Given the description of an element on the screen output the (x, y) to click on. 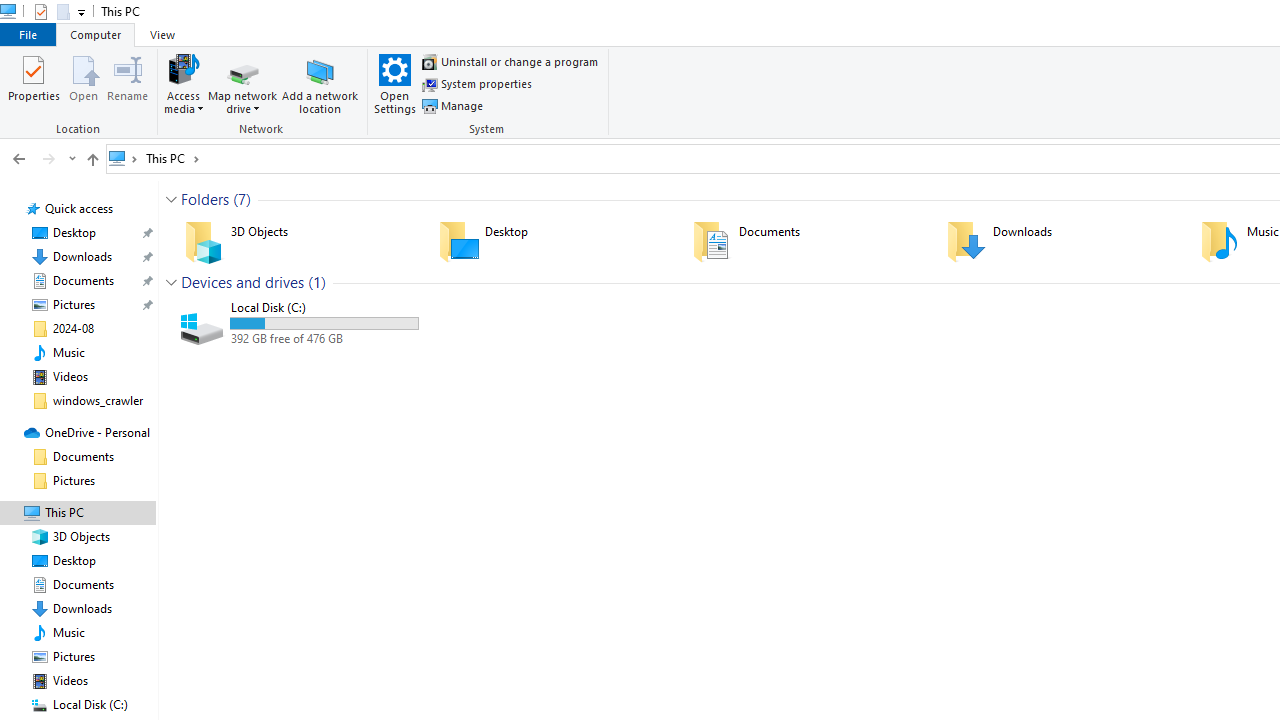
Documents (806, 241)
View (162, 34)
This PC (172, 158)
Manage (452, 105)
Open (83, 83)
System properties (477, 83)
All locations (124, 158)
Access media (184, 83)
Customize Quick Access Toolbar (81, 11)
Count (316, 282)
Local Disk (C:) (298, 323)
Properties (34, 83)
System (489, 93)
Map network drive (243, 102)
Downloads (pinned) (82, 256)
